Given the description of an element on the screen output the (x, y) to click on. 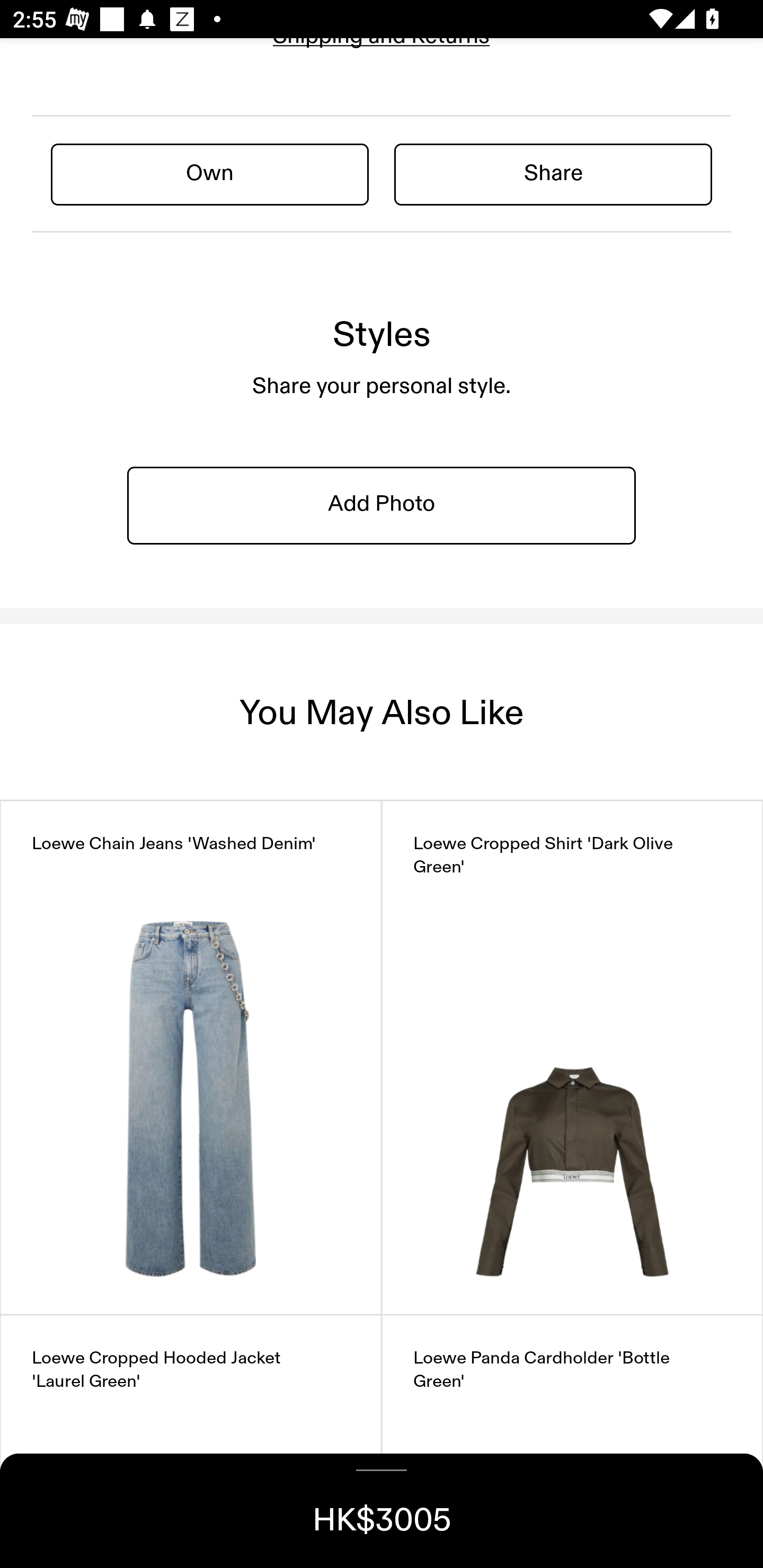
Own (209, 173)
Share (552, 173)
Add Photo (381, 504)
Loewe Chain Jeans 'Washed Denim' (190, 1057)
Loewe Cropped Shirt 'Dark Olive Green' (572, 1057)
Loewe Cropped Hooded Jacket 'Laurel Green' (190, 1441)
Loewe Panda Cardholder 'Bottle Green' (572, 1441)
HK$3005 (381, 1510)
